Given the description of an element on the screen output the (x, y) to click on. 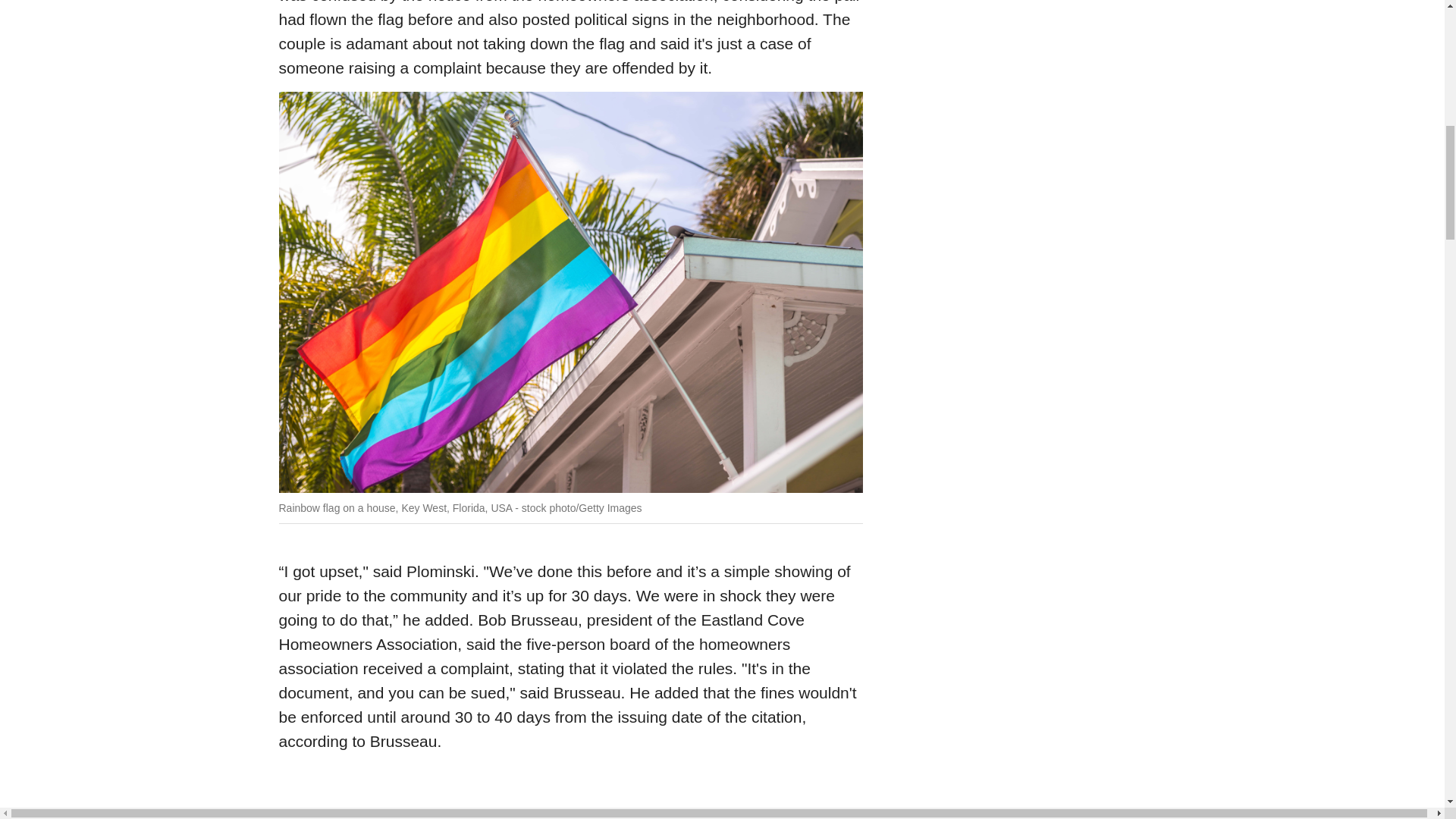
YouTube video player (571, 797)
